Given the description of an element on the screen output the (x, y) to click on. 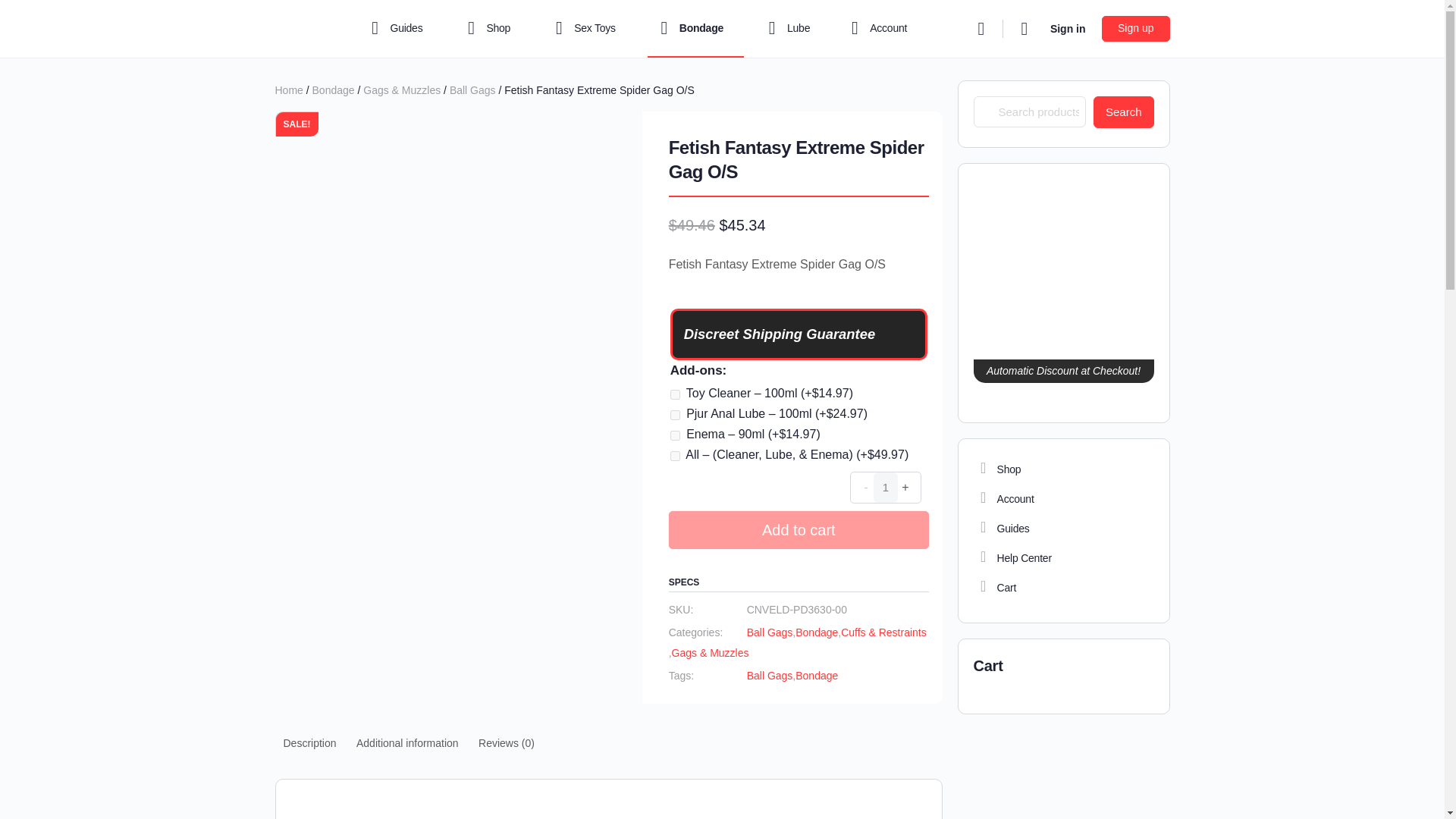
Account (1063, 499)
MQ Adult Shop (1063, 469)
enema-90ml (674, 435)
toy-cleaner-100ml (674, 394)
Account (876, 28)
Shop (492, 28)
Sign in (1067, 28)
Guides (400, 28)
Sex Toys (588, 28)
all-cleaner-lube-enema (674, 456)
